Given the description of an element on the screen output the (x, y) to click on. 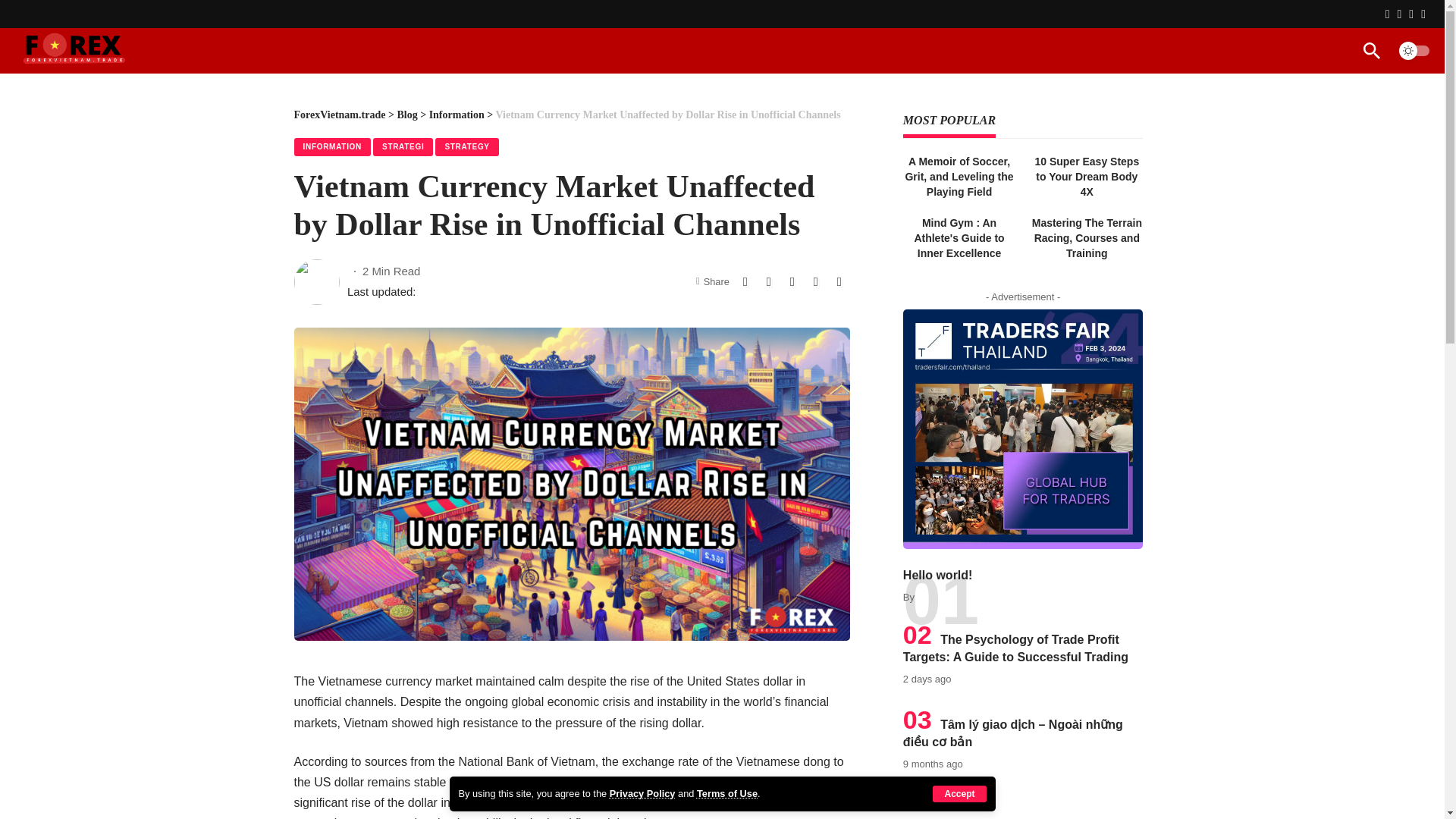
ForexVietnam.trade (339, 114)
Information (456, 114)
STRATEGI (402, 147)
INFORMATION (332, 147)
STRATEGY (466, 147)
Accept (959, 793)
Go to the Information Category archives. (456, 114)
Blog (406, 114)
Terms of Use (727, 793)
Go to Blog. (406, 114)
Privacy Policy (642, 793)
Go to ForexVietnam.trade. (339, 114)
